Given the description of an element on the screen output the (x, y) to click on. 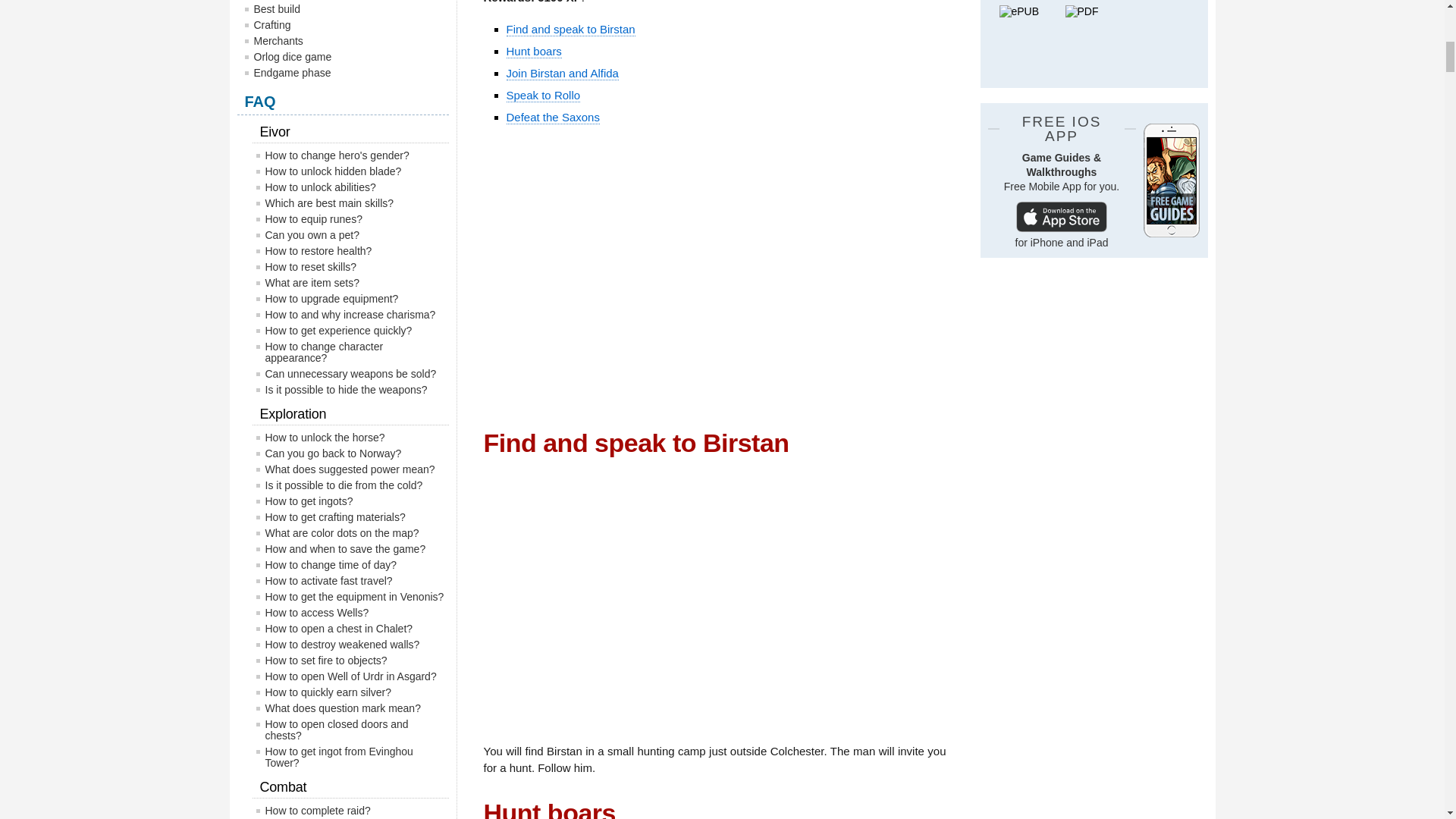
Hunt boars (534, 51)
Find and speak to Birstan (570, 29)
